Given the description of an element on the screen output the (x, y) to click on. 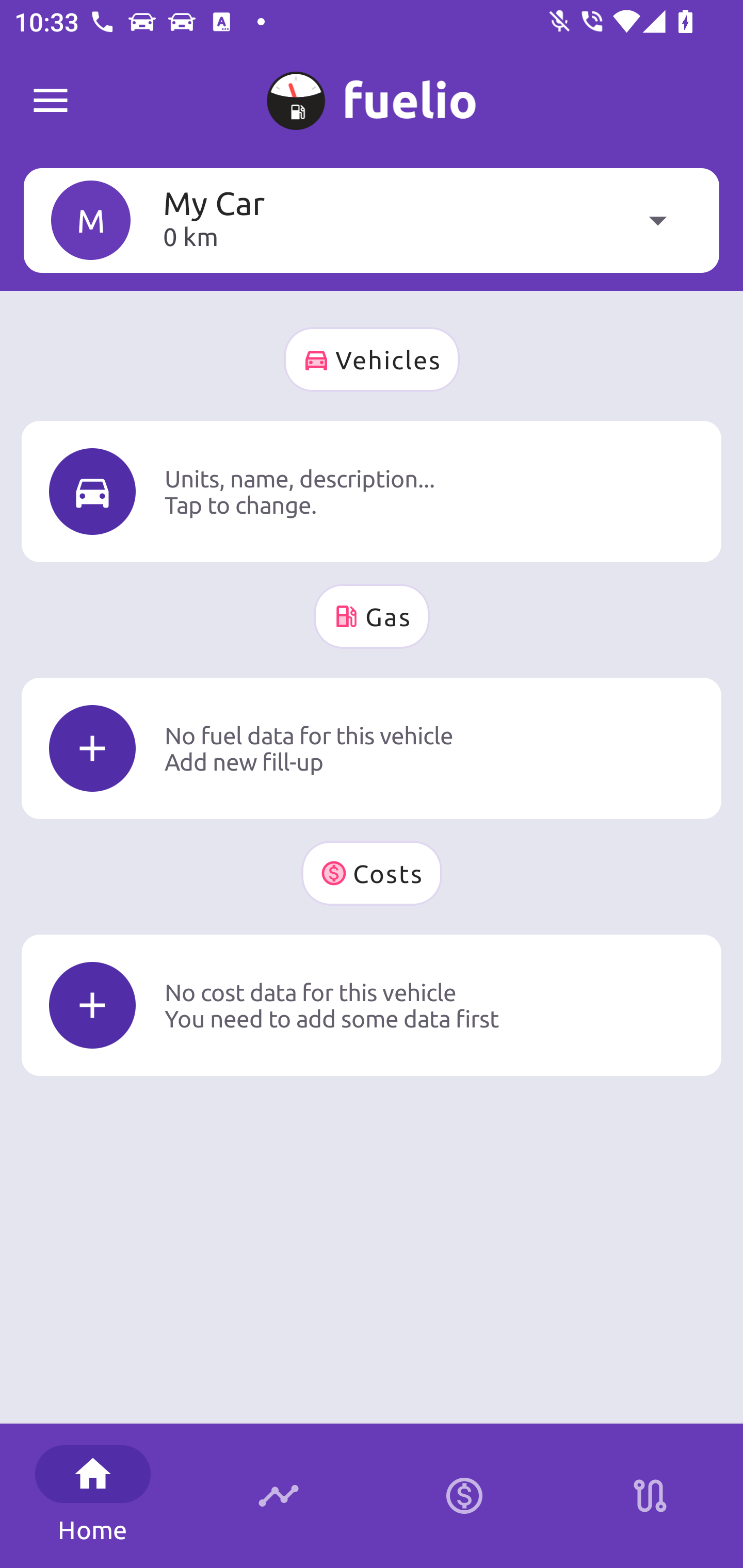
Fuelio (50, 101)
M My Car 0 km (371, 219)
Vehicles (371, 359)
Icon Units, name, description...
Tap to change. (371, 491)
Icon (92, 491)
Gas (371, 616)
Icon No fuel data for this vehicle
Add new fill-up (371, 747)
Icon (92, 748)
Costs (371, 873)
Icon (92, 1004)
Timeline (278, 1495)
Calculator (464, 1495)
Stations on route (650, 1495)
